Given the description of an element on the screen output the (x, y) to click on. 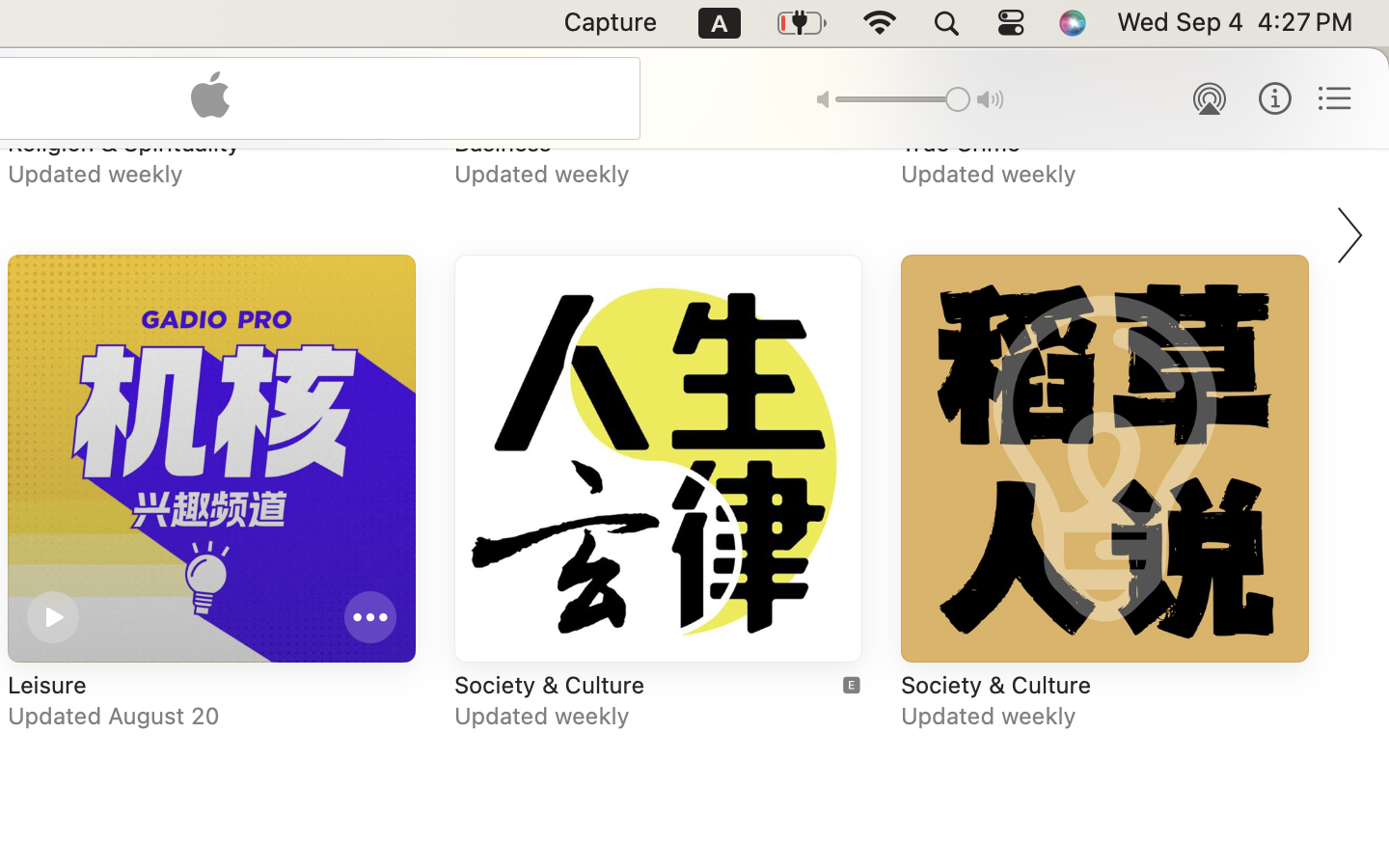
1.0 Element type: AXSlider (902, 98)
